Given the description of an element on the screen output the (x, y) to click on. 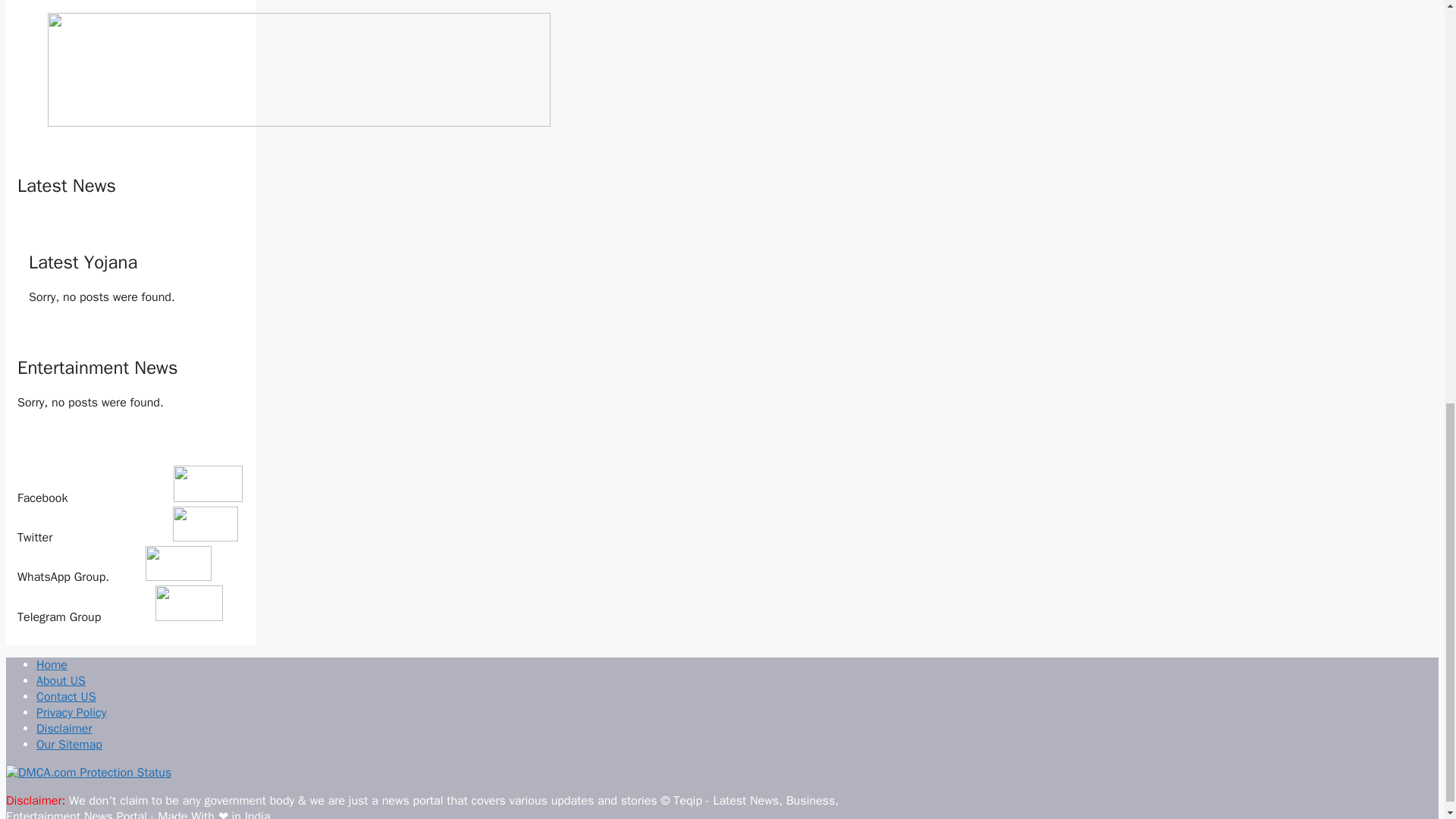
About US (60, 680)
Disclaimer (63, 728)
Privacy Policy (71, 712)
Our Sitemap (68, 744)
Home (51, 664)
DMCA.com Protection Status (88, 772)
Contact US (66, 696)
